Given the description of an element on the screen output the (x, y) to click on. 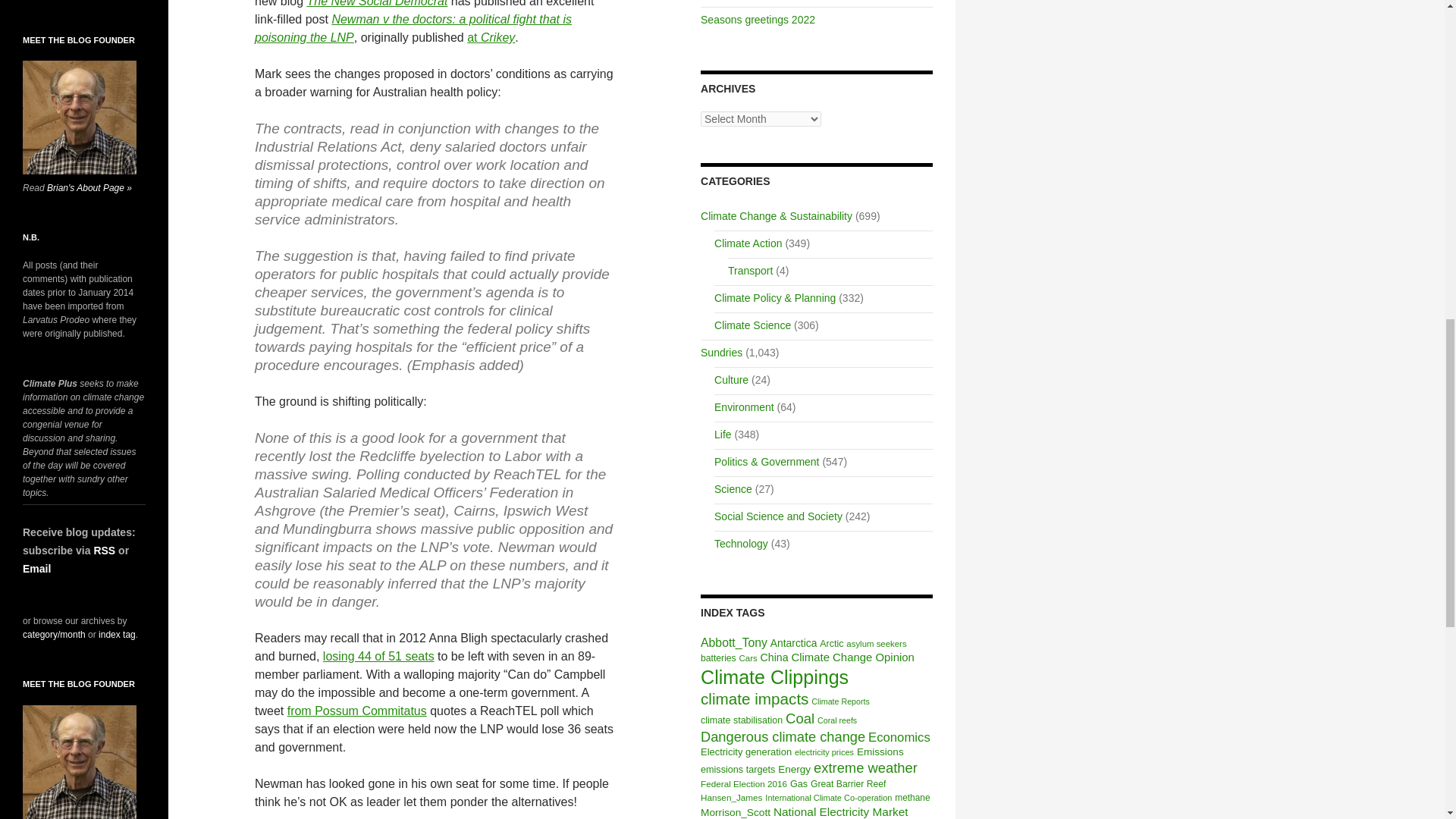
Brian Bahnisch (79, 762)
Go to sign-up form (36, 568)
losing 44 of 51 seats (378, 656)
Posts archived indexed by topical tag (117, 634)
Brian Bahnisch (79, 117)
at Crikey (491, 37)
Really Simple Syndication (104, 550)
The New Social Democrat (375, 3)
from Possum Commitatus (356, 710)
